Given the description of an element on the screen output the (x, y) to click on. 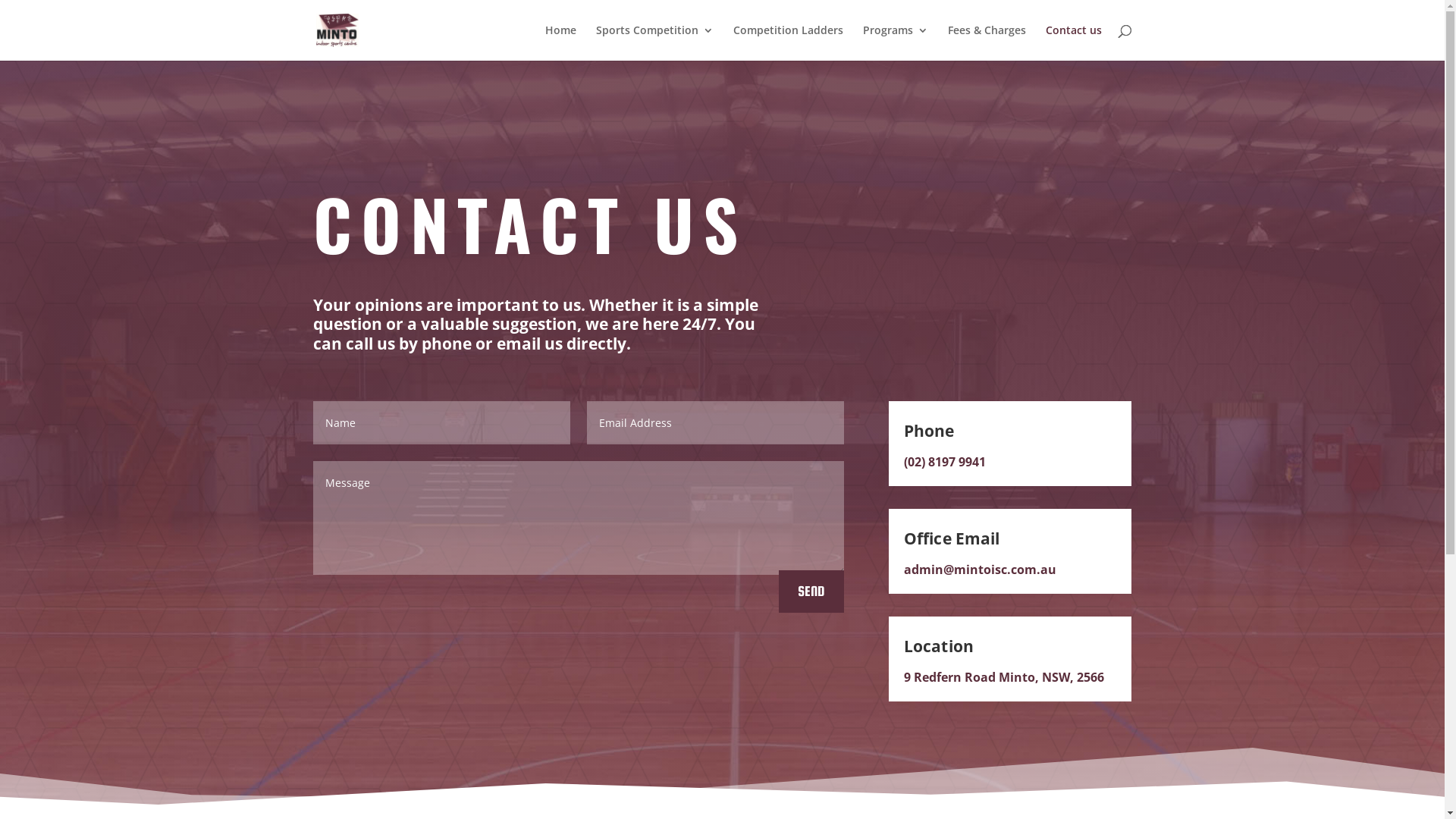
Home Element type: text (559, 42)
Programs Element type: text (895, 42)
Sports Competition Element type: text (654, 42)
SEND Element type: text (811, 591)
Fees & Charges Element type: text (986, 42)
Contact us Element type: text (1072, 42)
Competition Ladders Element type: text (787, 42)
